Given the description of an element on the screen output the (x, y) to click on. 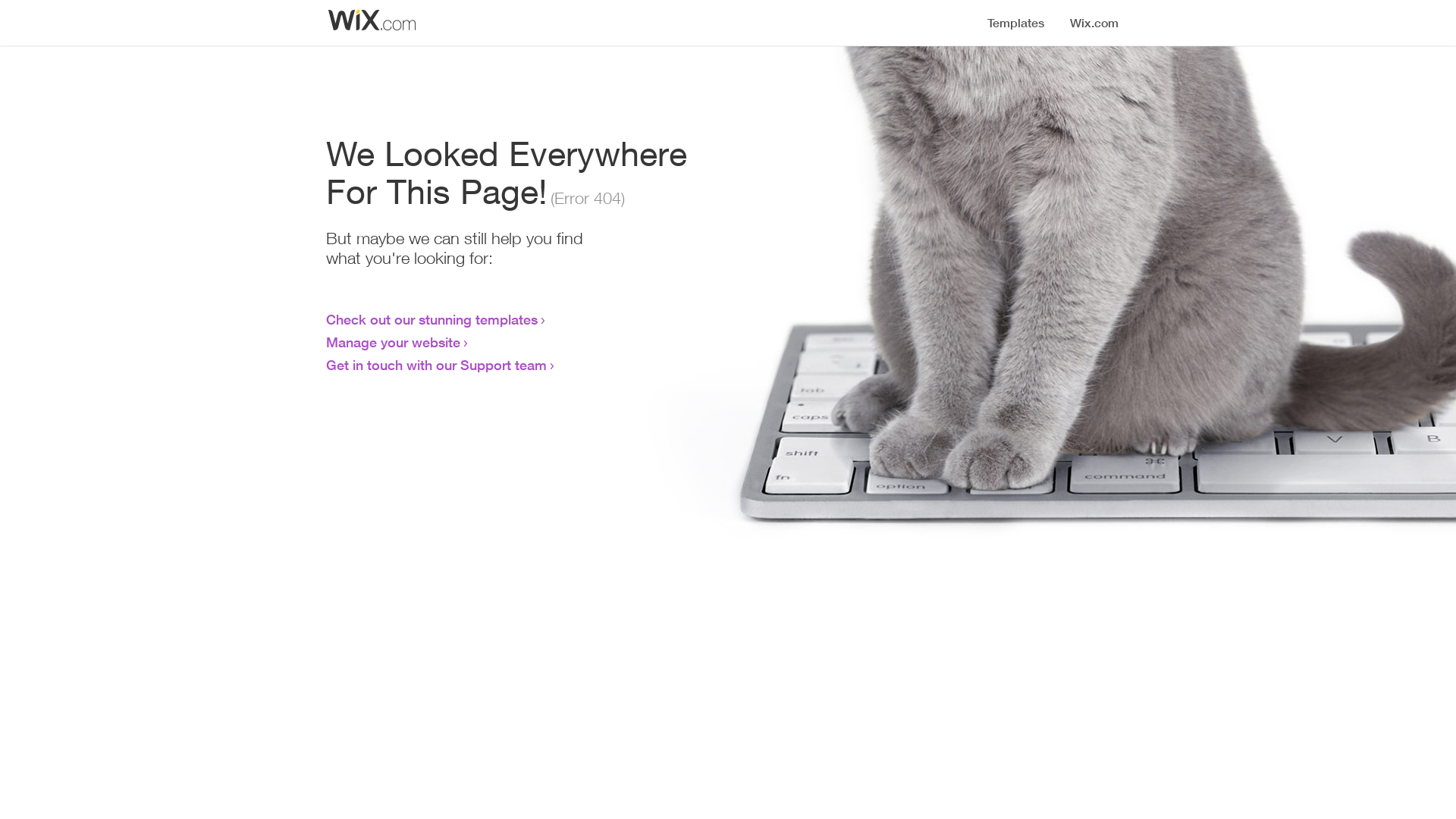
Manage your website Element type: text (393, 341)
Check out our stunning templates Element type: text (431, 318)
Get in touch with our Support team Element type: text (436, 364)
